Given the description of an element on the screen output the (x, y) to click on. 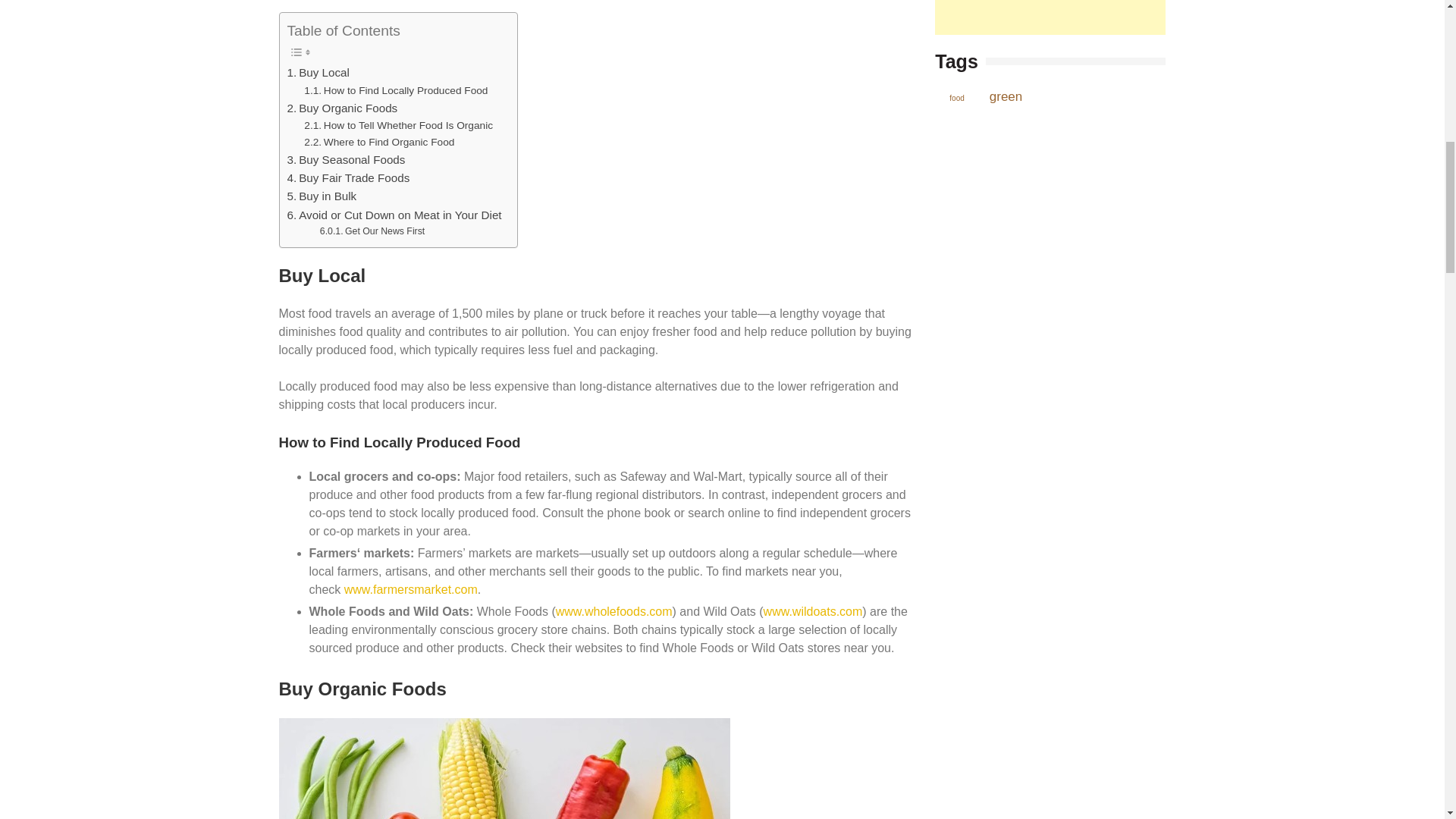
How to Find Locally Produced Food (395, 90)
www.wildoats.com (812, 611)
Buy Fair Trade Foods (347, 177)
Avoid or Cut Down on Meat in Your Diet (393, 215)
Where to Find Organic Food (379, 142)
How to Tell Whether Food Is Organic (398, 125)
www.wholefoods.com (614, 611)
Avoid or Cut Down on Meat in Your Diet (393, 215)
How to Find Locally Produced Food (395, 90)
Buy Seasonal Foods (345, 159)
